Given the description of an element on the screen output the (x, y) to click on. 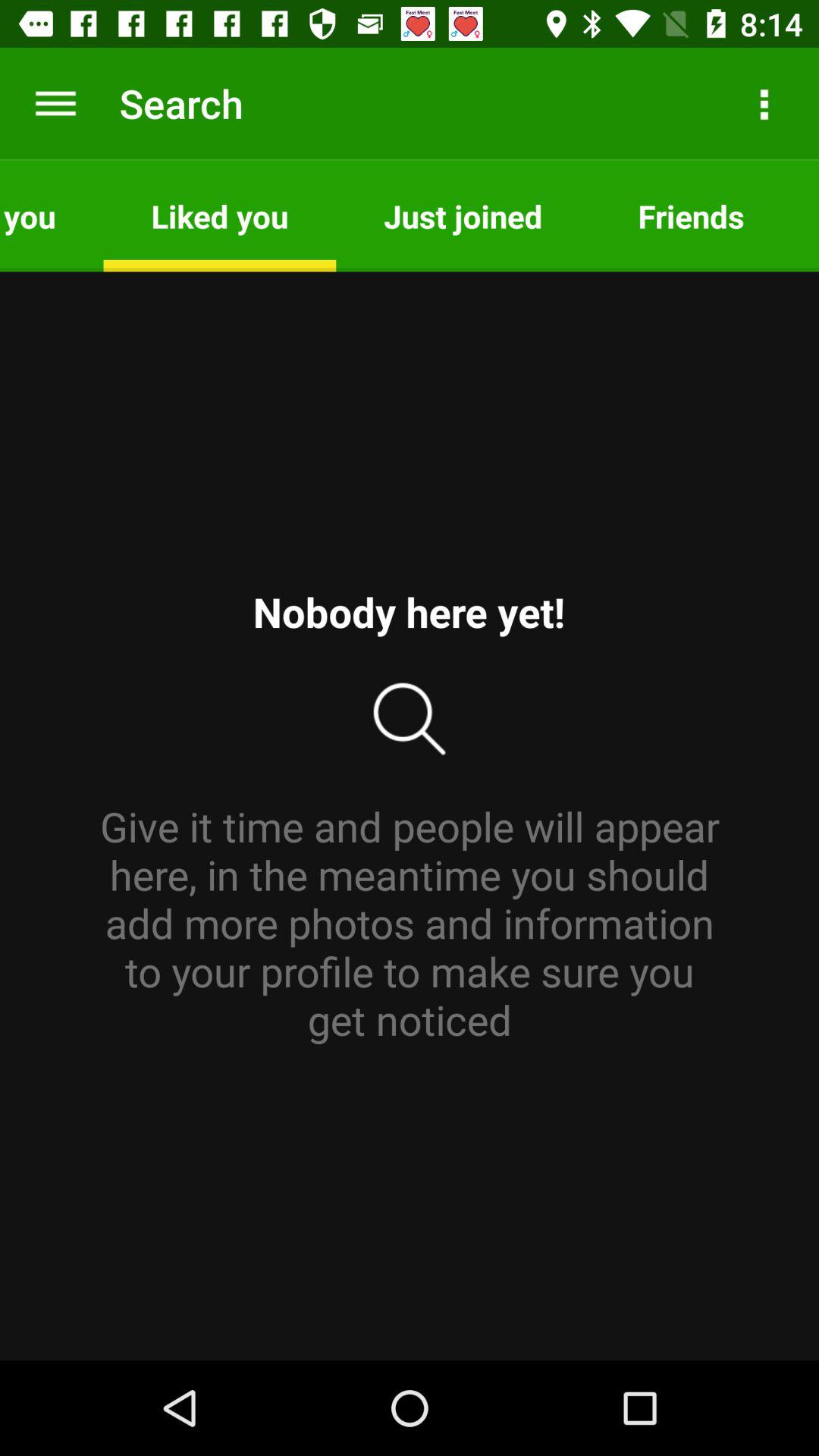
press icon next to liked you (51, 215)
